Given the description of an element on the screen output the (x, y) to click on. 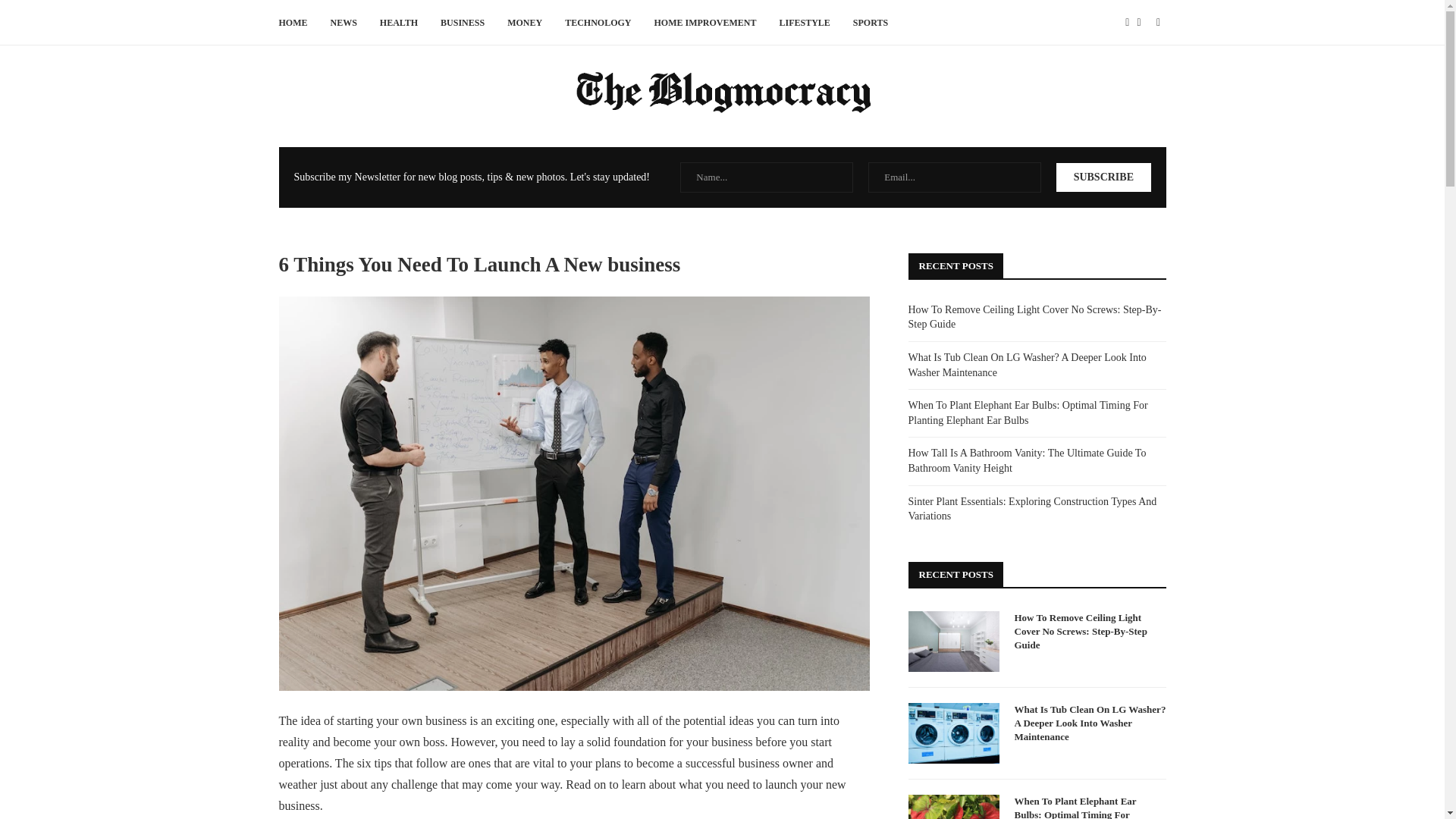
HOME (293, 22)
HOME IMPROVEMENT (704, 22)
TECHNOLOGY (597, 22)
Subscribe (1103, 176)
HEALTH (398, 22)
SPORTS (870, 22)
BUSINESS (462, 22)
LIFESTYLE (803, 22)
Subscribe (1103, 176)
MONEY (523, 22)
NEWS (343, 22)
